Given the description of an element on the screen output the (x, y) to click on. 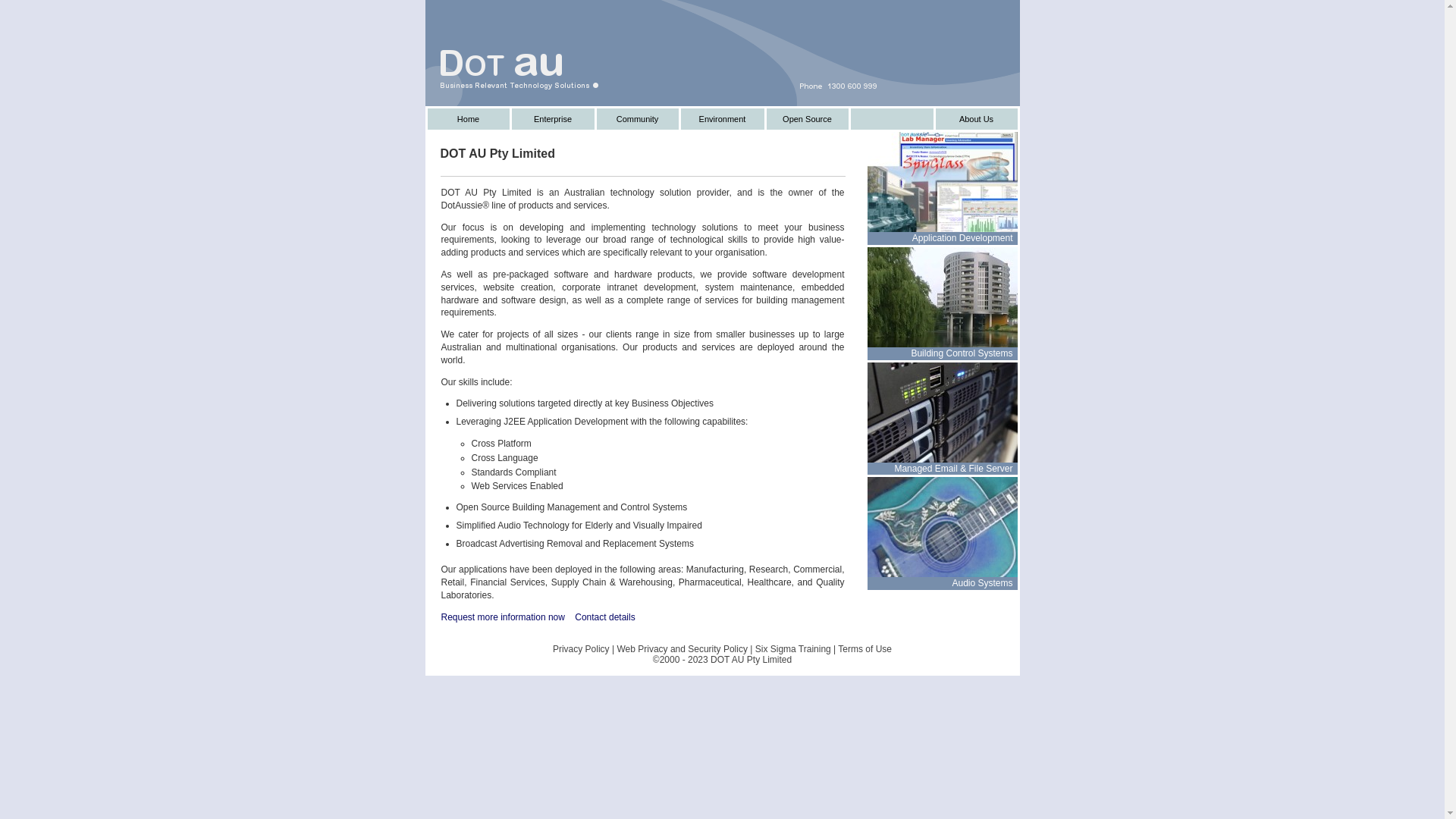
About Us Element type: text (976, 118)
Terms of Use Element type: text (864, 648)
Environment Element type: text (722, 118)
Community Element type: text (636, 118)
Home Element type: text (468, 118)
Open Source Element type: text (806, 118)
Request more information now Element type: text (502, 616)
Six Sigma Training Element type: text (793, 648)
Enterprise Element type: text (552, 118)
Contact details Element type: text (604, 616)
Privacy Policy Element type: text (580, 648)
Web Privacy and Security Policy Element type: text (681, 648)
